Given the description of an element on the screen output the (x, y) to click on. 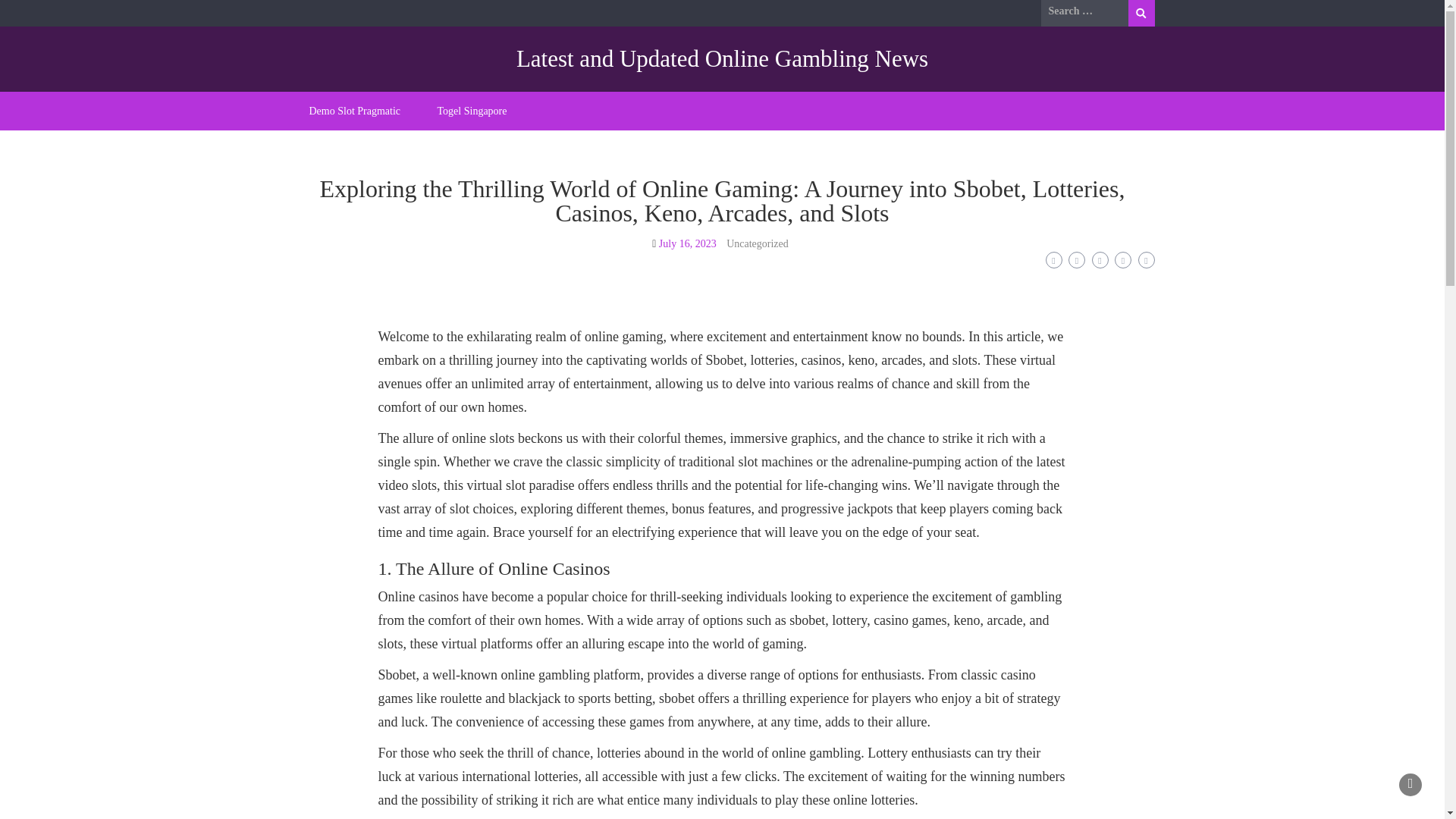
Search for: (1083, 11)
July 16, 2023 (687, 243)
Demo Slot Pragmatic (355, 110)
Latest and Updated Online Gambling News (722, 58)
Search (1141, 13)
Search (1141, 13)
Search (1141, 13)
Togel Singapore (472, 110)
Uncategorized (757, 243)
